Given the description of an element on the screen output the (x, y) to click on. 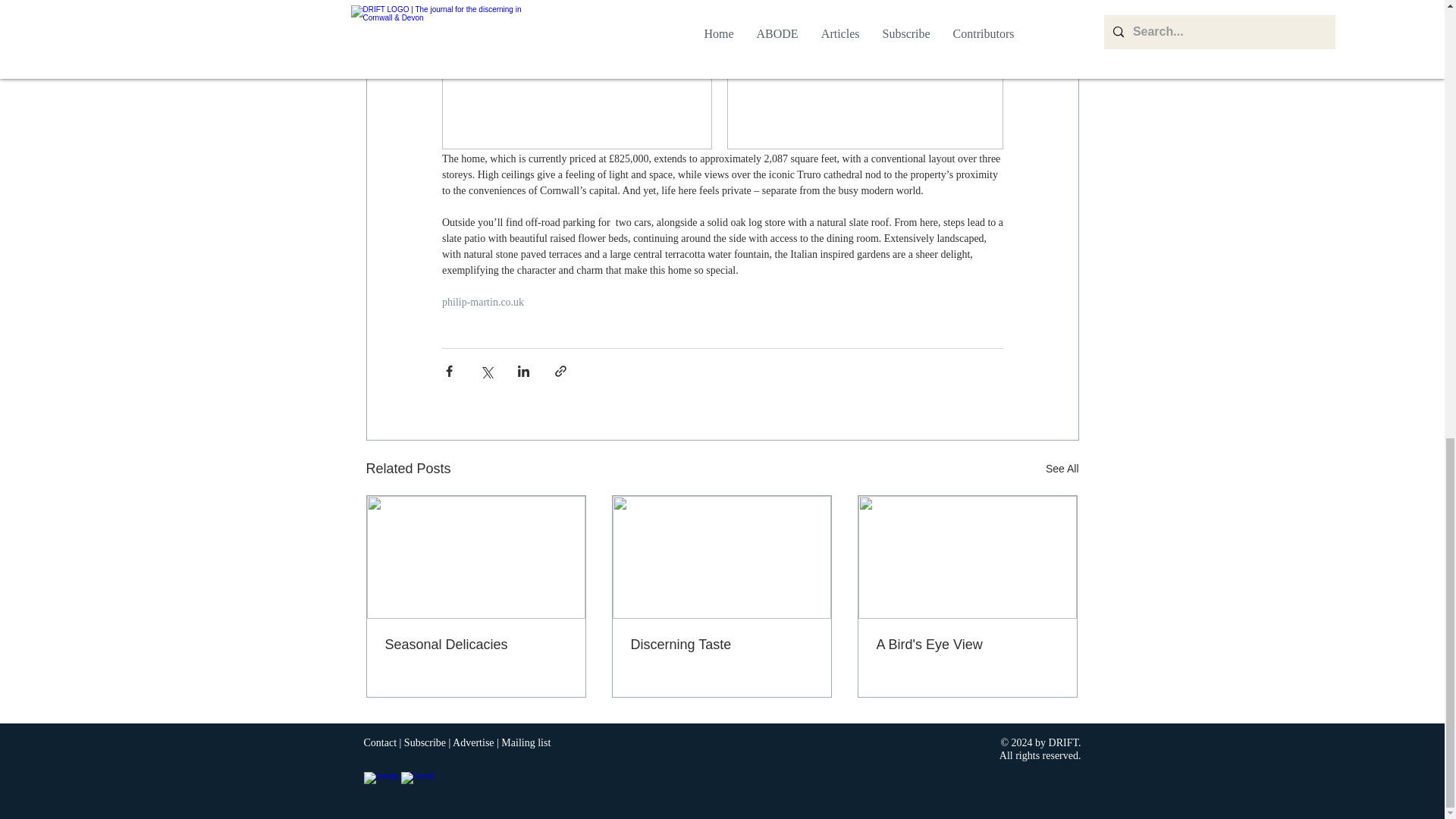
Subscribe (424, 742)
See All (1061, 468)
philip-martin.co.uk (481, 301)
Advertise (472, 742)
Mailing list (525, 742)
Discerning Taste (721, 644)
Seasonal Delicacies (476, 644)
A Bird's Eye View (967, 644)
Contact (380, 742)
